Given the description of an element on the screen output the (x, y) to click on. 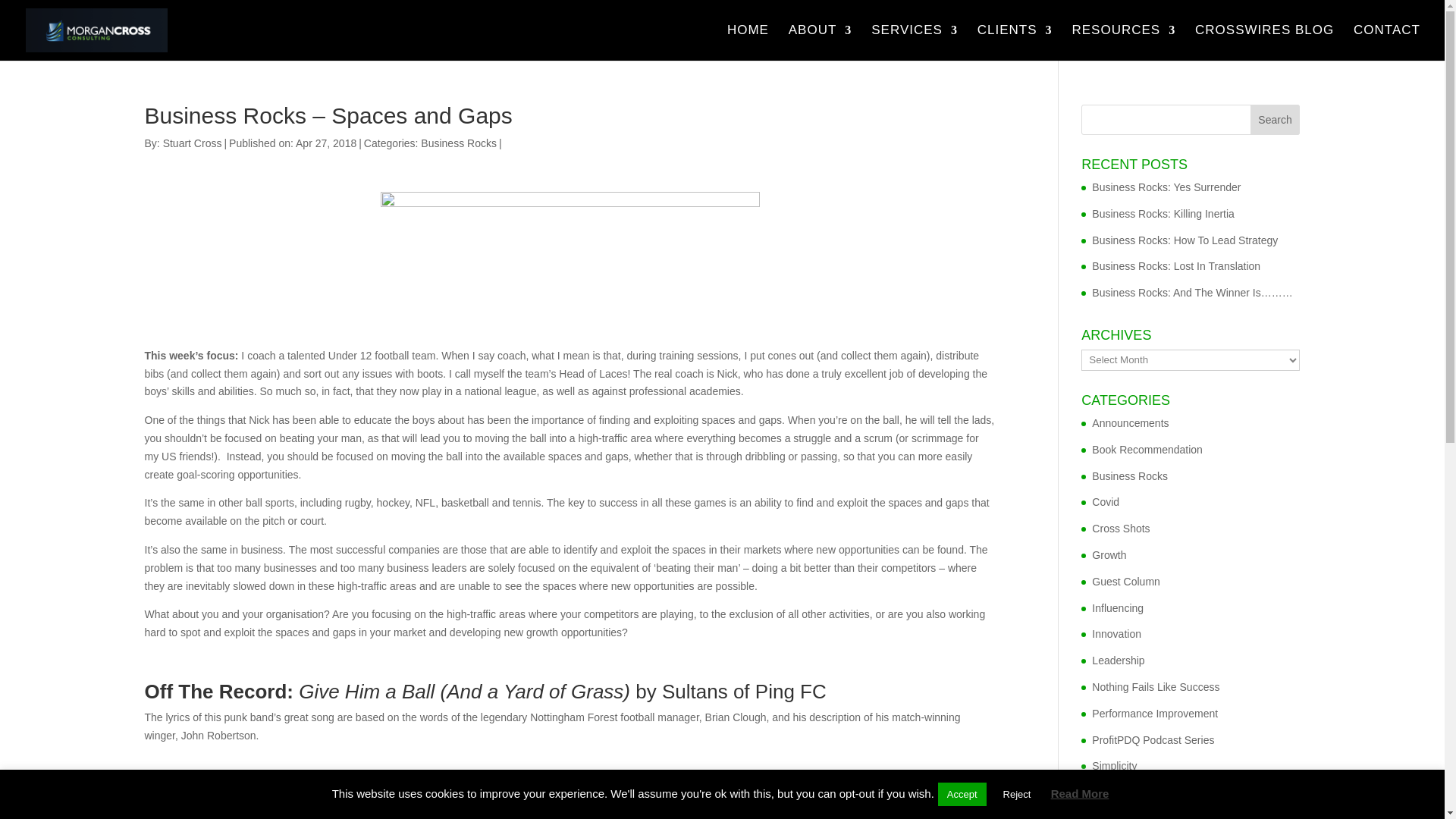
Posts by Stuart Cross (192, 143)
Search (1275, 119)
SERVICES (914, 42)
CONTACT (1387, 42)
RESOURCES (1122, 42)
HOME (747, 42)
CLIENTS (1014, 42)
CROSSWIRES BLOG (1264, 42)
ABOUT (820, 42)
